Given the description of an element on the screen output the (x, y) to click on. 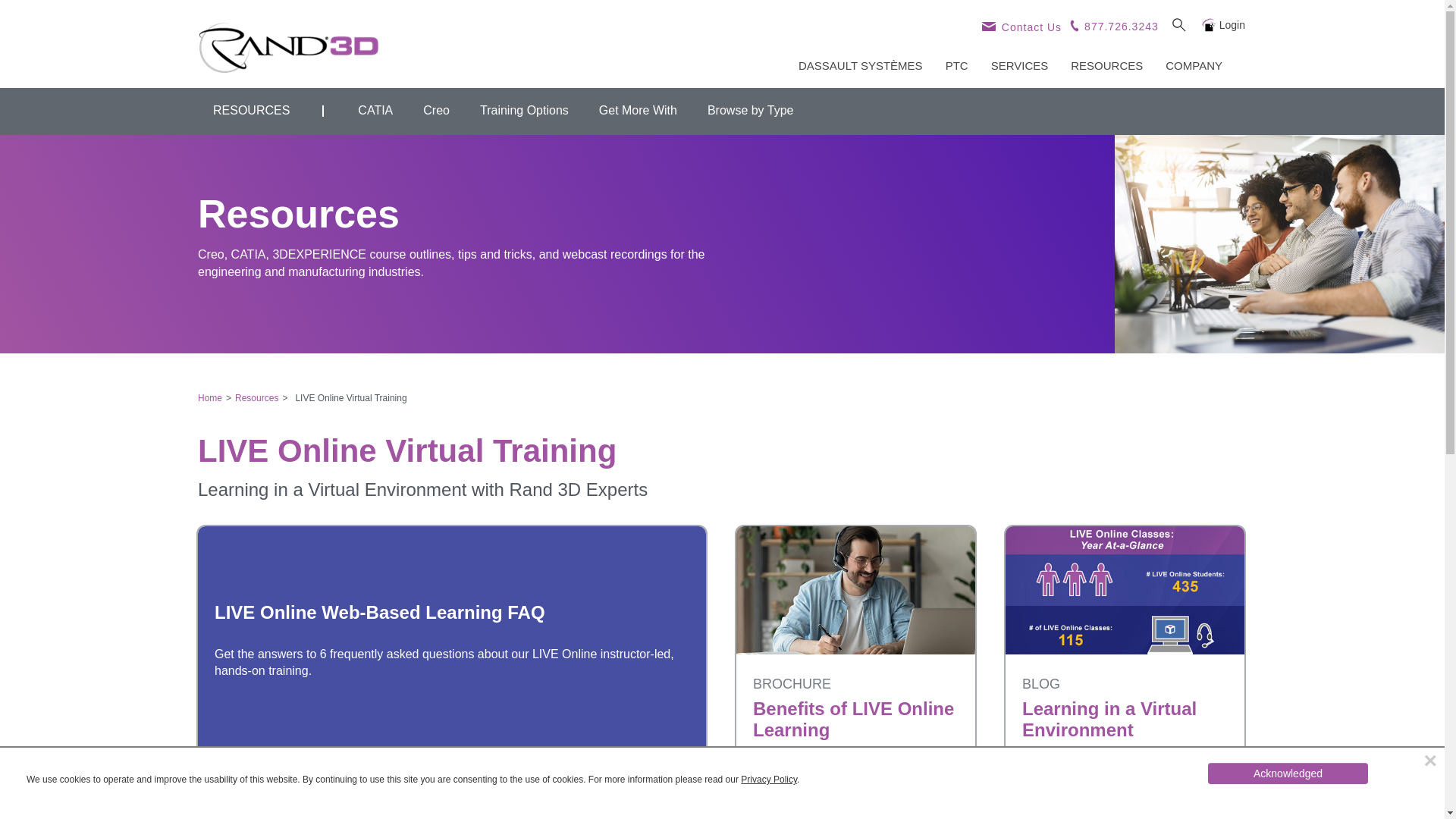
Contact Us (1021, 27)
Search Site (1179, 24)
877.726.3243 (1113, 24)
PTC (956, 66)
Login (1221, 24)
Search (1179, 24)
SERVICES (1019, 66)
Contact Us (1021, 24)
ProductivityNOW Login (1221, 24)
